Given the description of an element on the screen output the (x, y) to click on. 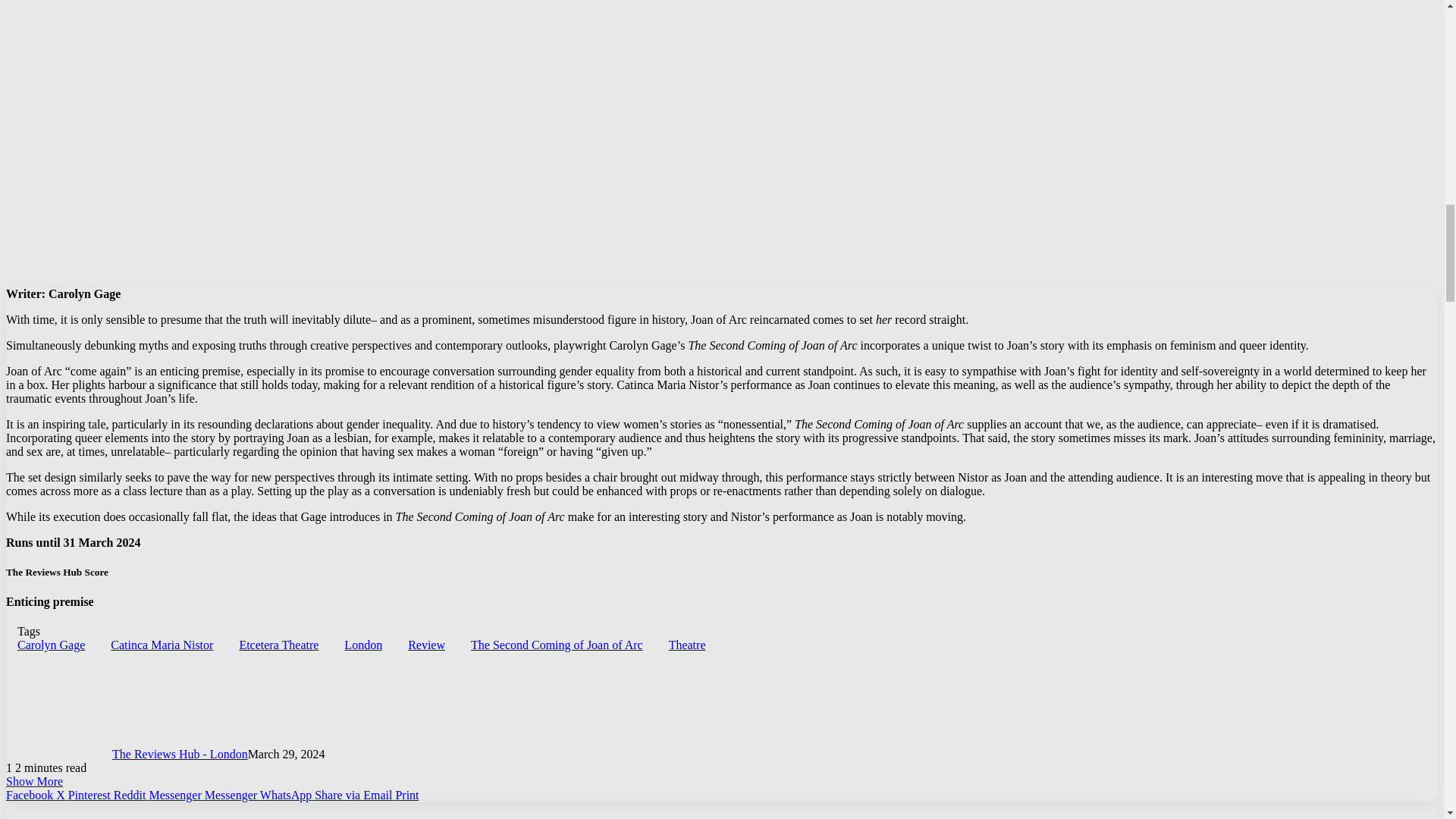
Reddit (128, 794)
Facebook (28, 794)
The Reviews Hub - London (179, 753)
Messenger (172, 794)
X (58, 794)
Messenger (229, 794)
Pinterest (87, 794)
WhatsApp (284, 794)
